Given the description of an element on the screen output the (x, y) to click on. 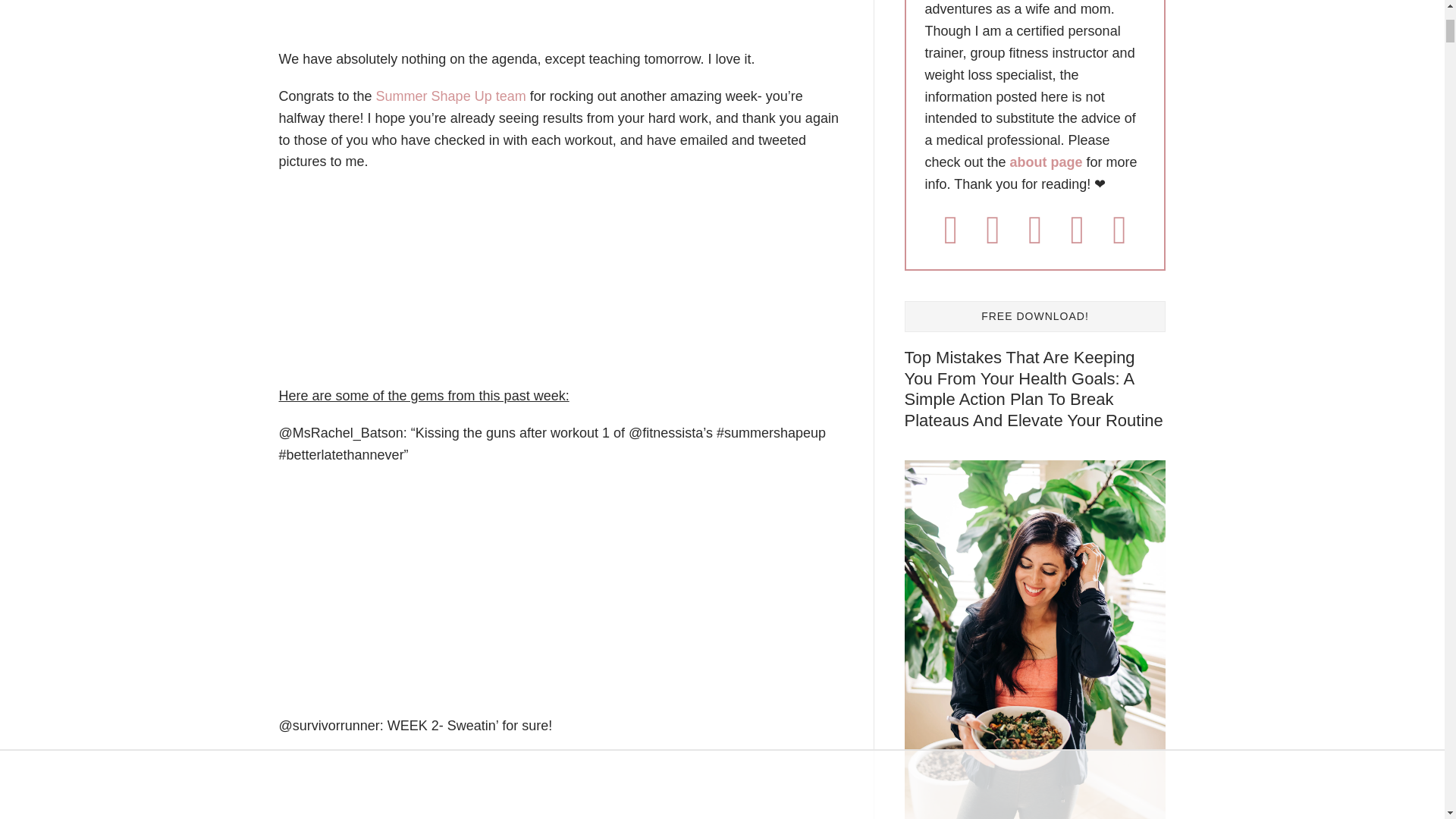
NewImage.png (506, 785)
